Given the description of an element on the screen output the (x, y) to click on. 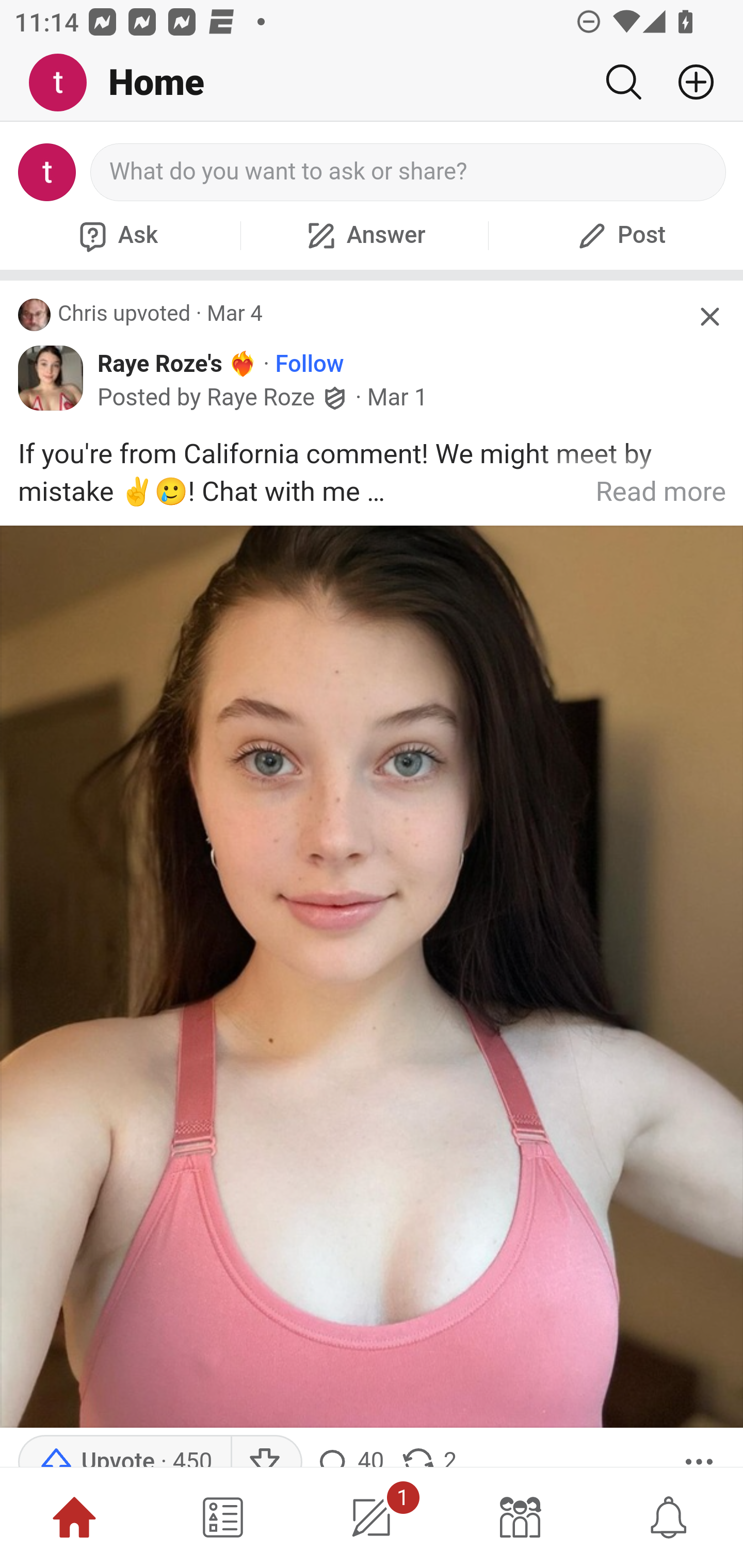
Me (64, 83)
Search (623, 82)
Add (688, 82)
What do you want to ask or share? (408, 172)
Ask (116, 234)
Answer (364, 234)
Post (618, 234)
Hide (709, 316)
Profile photo for Chris Harrington (34, 314)
Icon for Raye Roze's ❤️‍🔥 (50, 377)
Raye Roze's ❤️‍🔥 (177, 362)
Follow (309, 363)
1 (371, 1517)
